Given the description of an element on the screen output the (x, y) to click on. 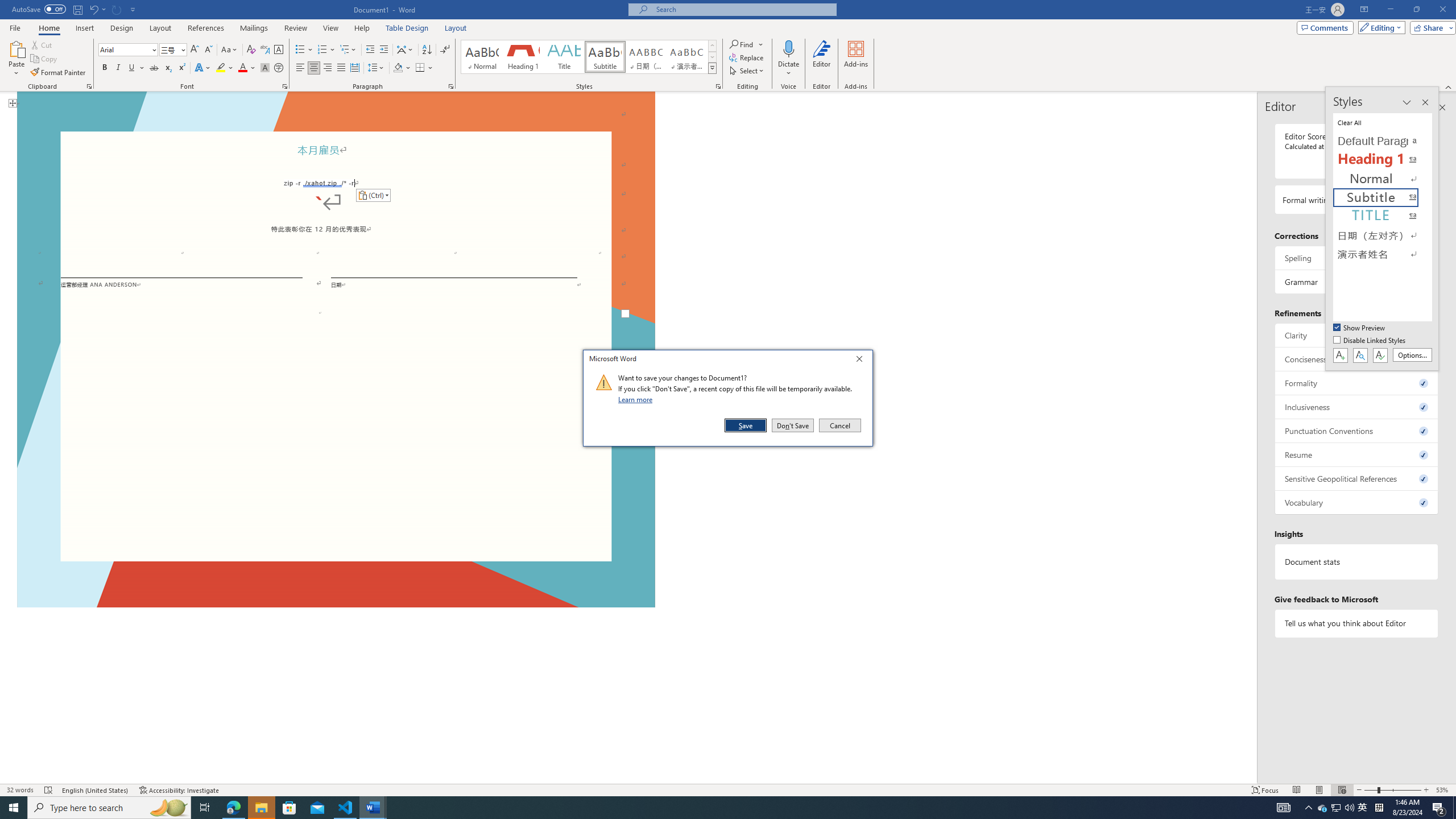
Undo Paste (96, 9)
Can't Repeat (117, 9)
